Given the description of an element on the screen output the (x, y) to click on. 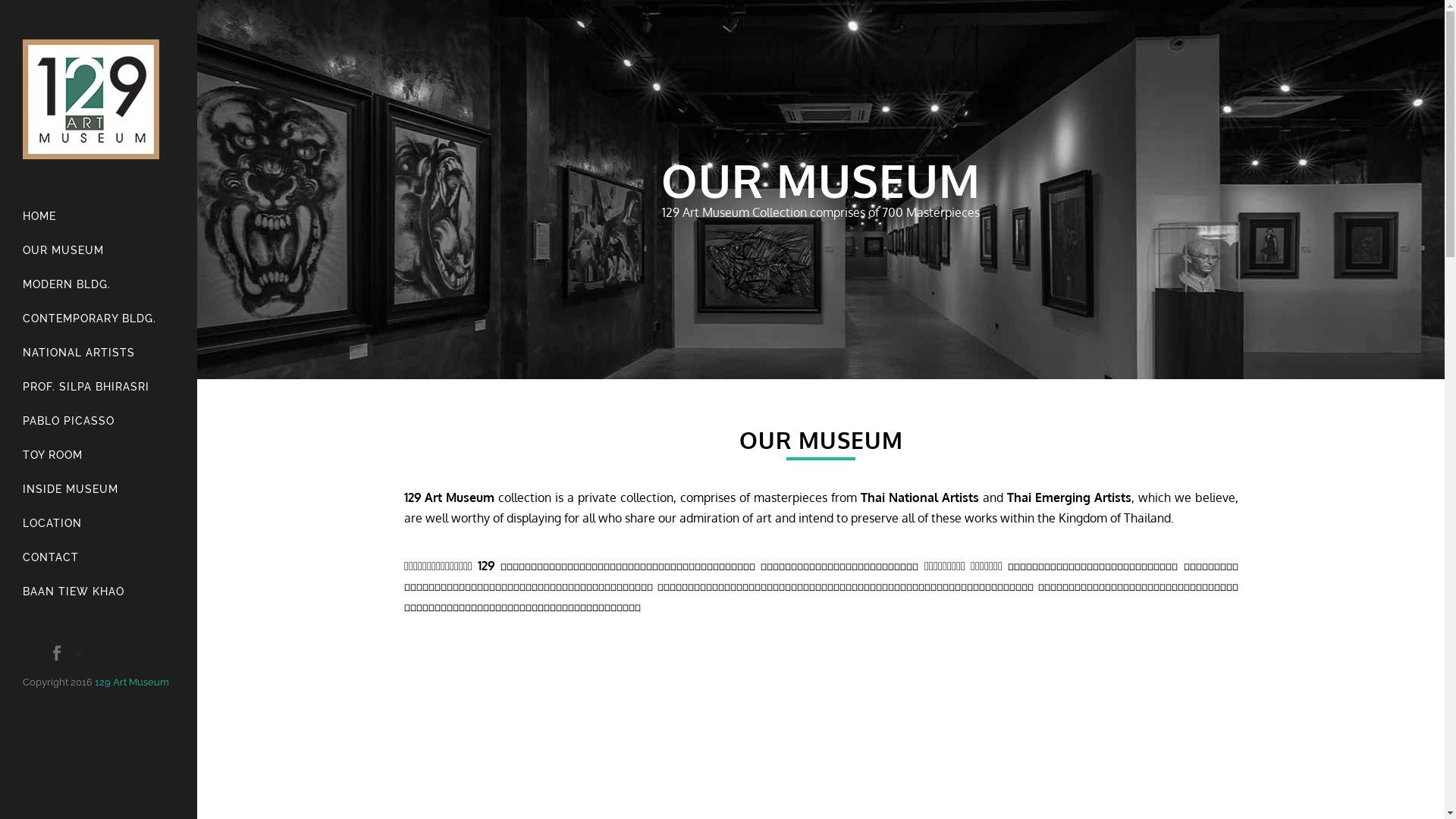
BAAN TIEW KHAO Element type: text (98, 591)
CONTEMPORARY BLDG. Element type: text (98, 318)
NATIONAL ARTISTS Element type: text (98, 352)
OUR MUSEUM Element type: text (98, 250)
HOME Element type: text (98, 216)
MODERN BLDG. Element type: text (98, 284)
CONTACT Element type: text (98, 557)
TOY ROOM Element type: text (98, 455)
PROF. SILPA BHIRASRI Element type: text (98, 387)
LOCATION Element type: text (98, 523)
INSIDE MUSEUM Element type: text (98, 489)
PABLO PICASSO Element type: text (98, 421)
